Given the description of an element on the screen output the (x, y) to click on. 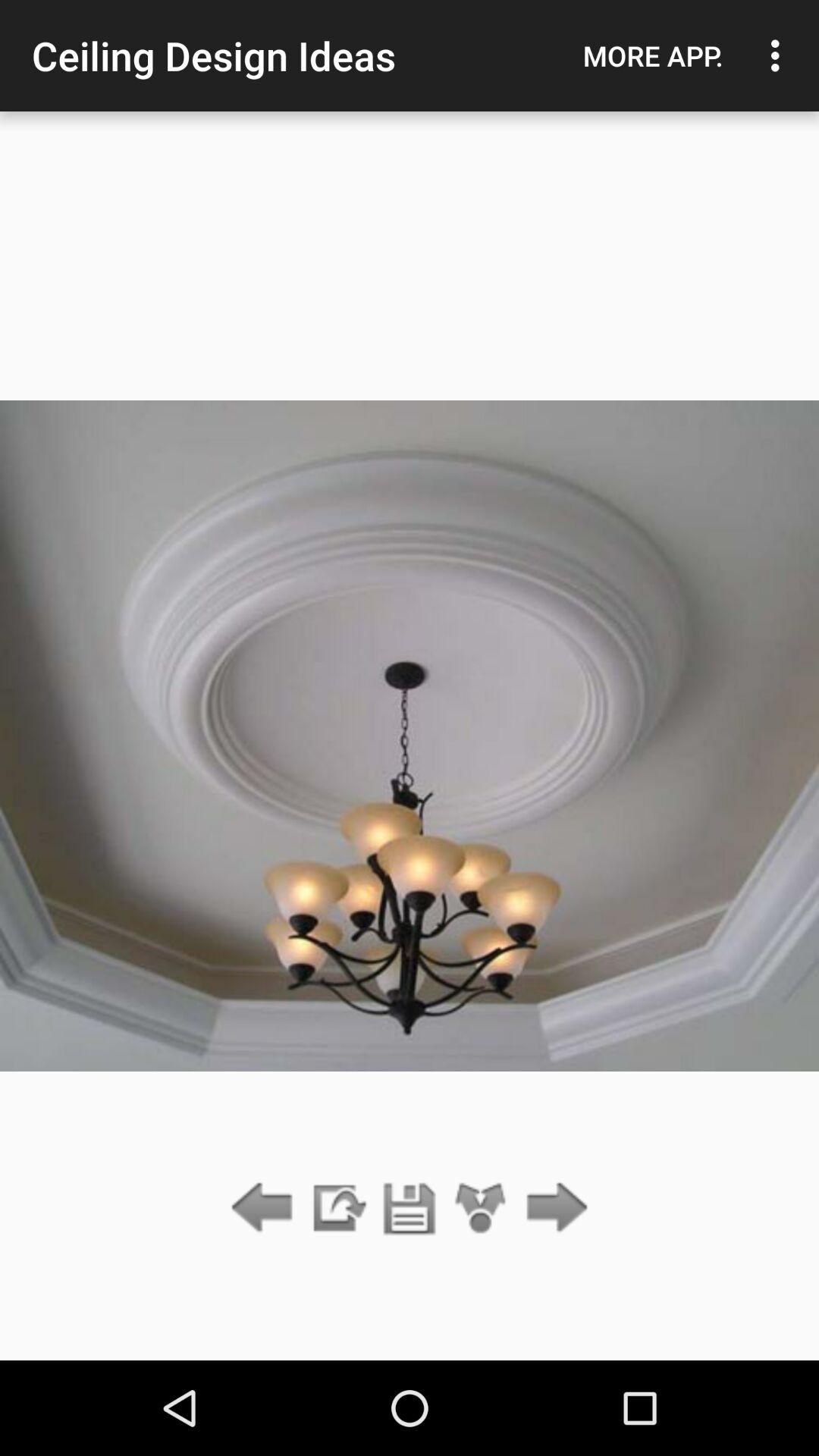
forwarded (552, 1209)
